Given the description of an element on the screen output the (x, y) to click on. 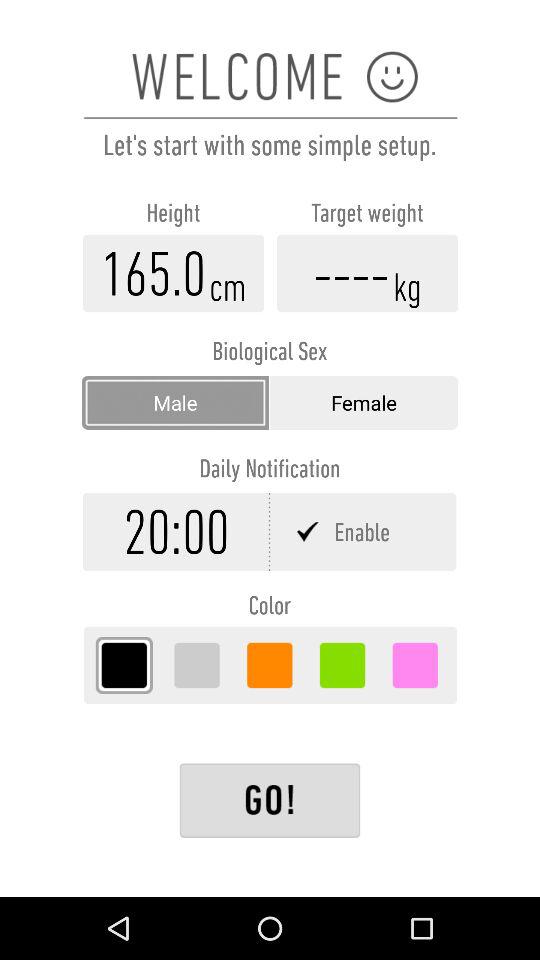
toggle daily notification (363, 531)
